Given the description of an element on the screen output the (x, y) to click on. 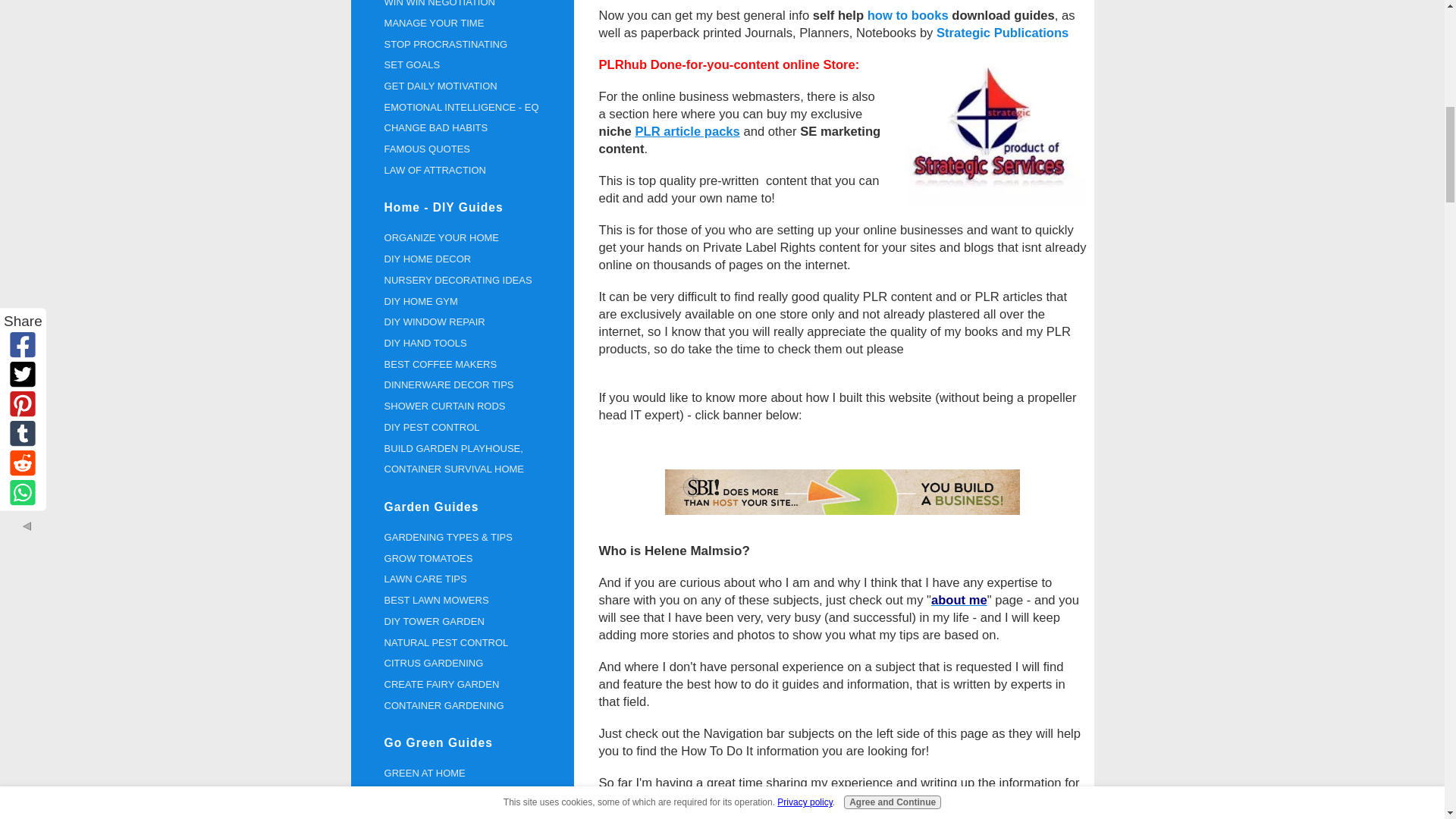
how to books (908, 15)
about me (959, 599)
Strategic Publications (1002, 32)
PLR article packs (686, 130)
